Given the description of an element on the screen output the (x, y) to click on. 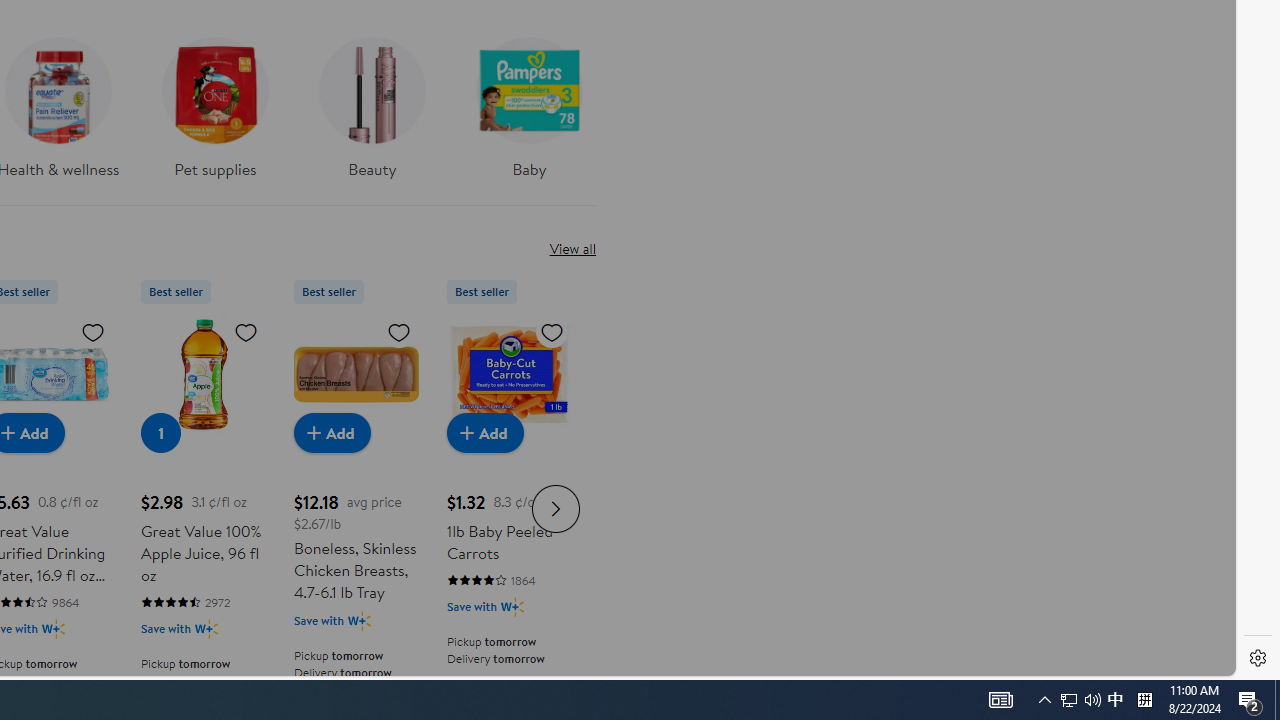
1 in cart, Great Value 100% Apple Juice, 96 fl oz (160, 431)
Pet supplies (214, 101)
Great Value 100% Apple Juice, 96 fl oz (203, 374)
Sign in to add to Favorites list, 1lb Baby Peeled Carrots (552, 331)
